Given the description of an element on the screen output the (x, y) to click on. 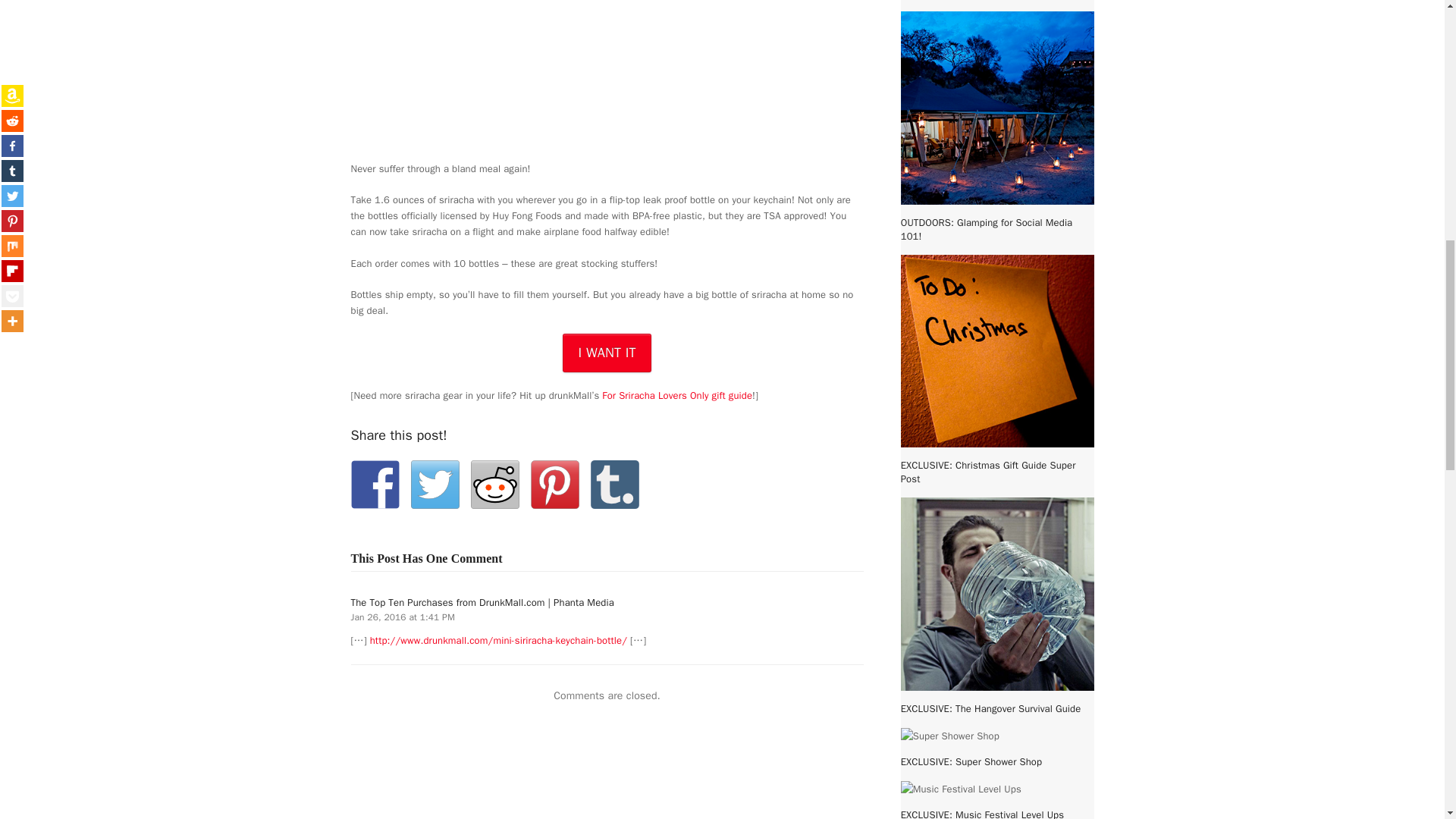
Visit Site (606, 352)
Blog about it! (614, 484)
Tweet! (435, 484)
Submit! (494, 484)
Share! (374, 484)
Pin it! (555, 484)
